Given the description of an element on the screen output the (x, y) to click on. 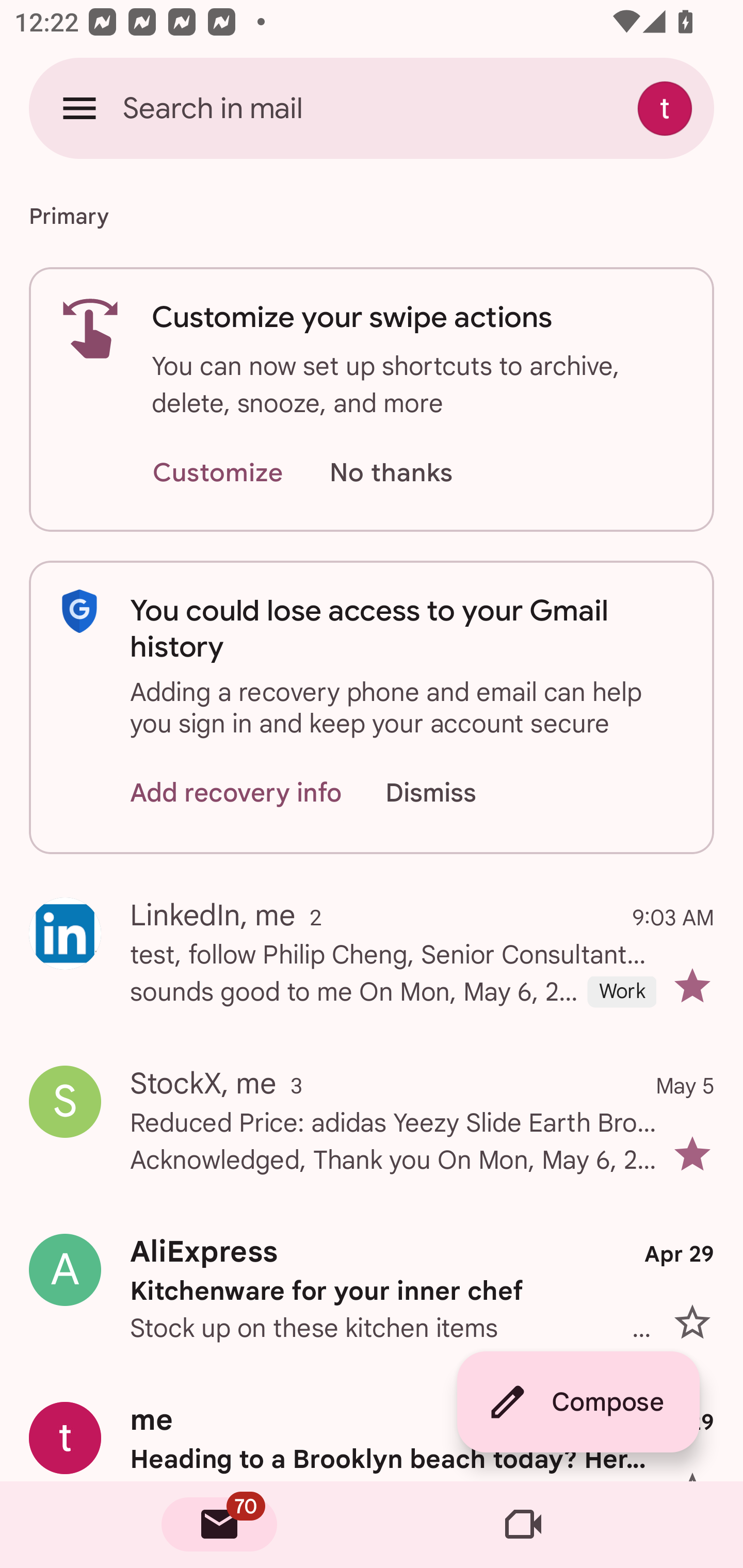
Open navigation drawer (79, 108)
Customize (217, 473)
No thanks (390, 473)
Add recovery info (235, 792)
Dismiss (449, 792)
Compose (577, 1401)
Meet (523, 1524)
